Given the description of an element on the screen output the (x, y) to click on. 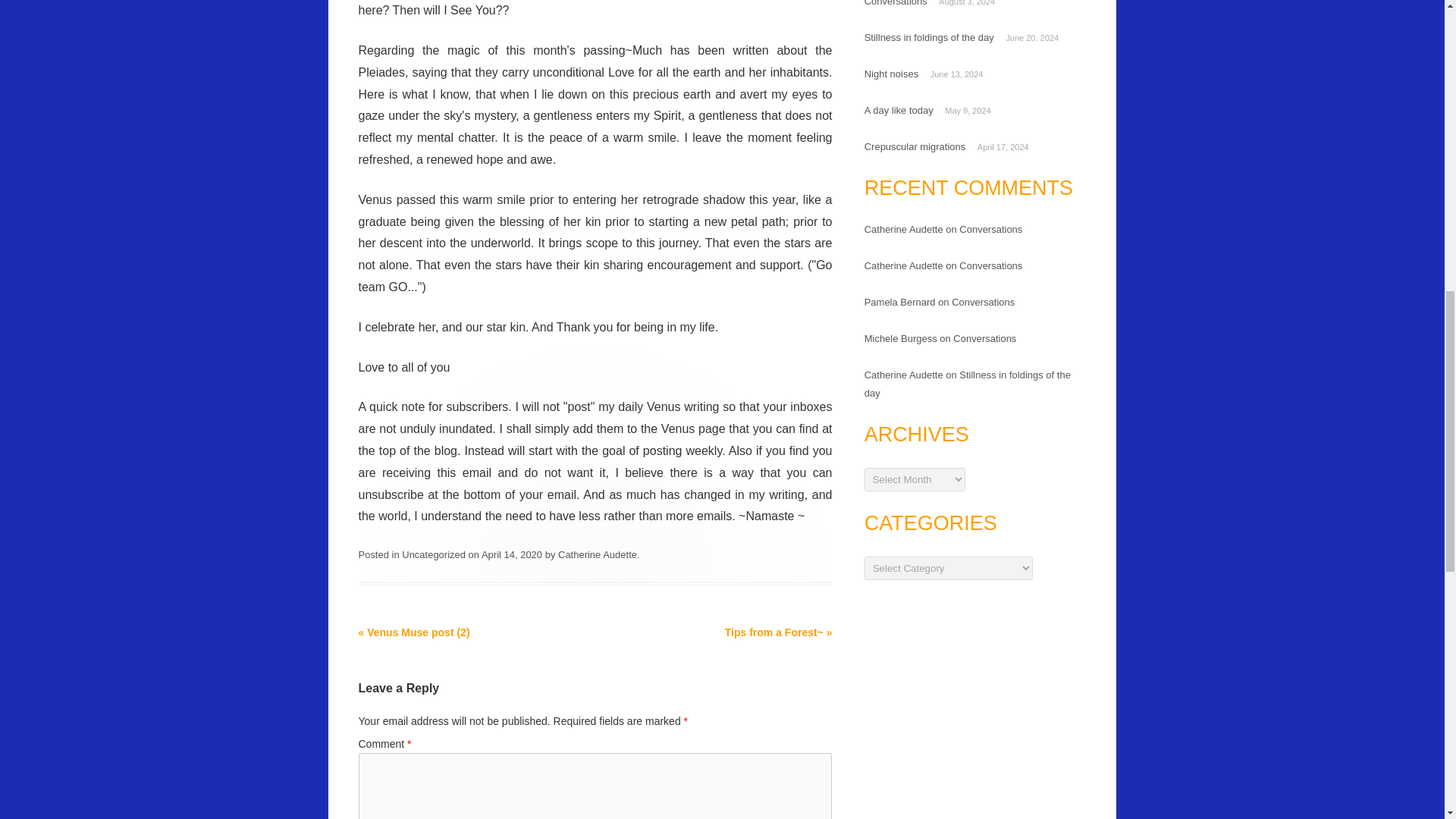
A day like today (898, 110)
April 14, 2020 (511, 554)
2:14 pm (511, 554)
Uncategorized (433, 554)
Night noises (891, 73)
Crepuscular migrations (915, 146)
Conversations (990, 229)
Pamela Bernard (900, 301)
Stillness in foldings of the day (929, 37)
Conversations (895, 3)
